Given the description of an element on the screen output the (x, y) to click on. 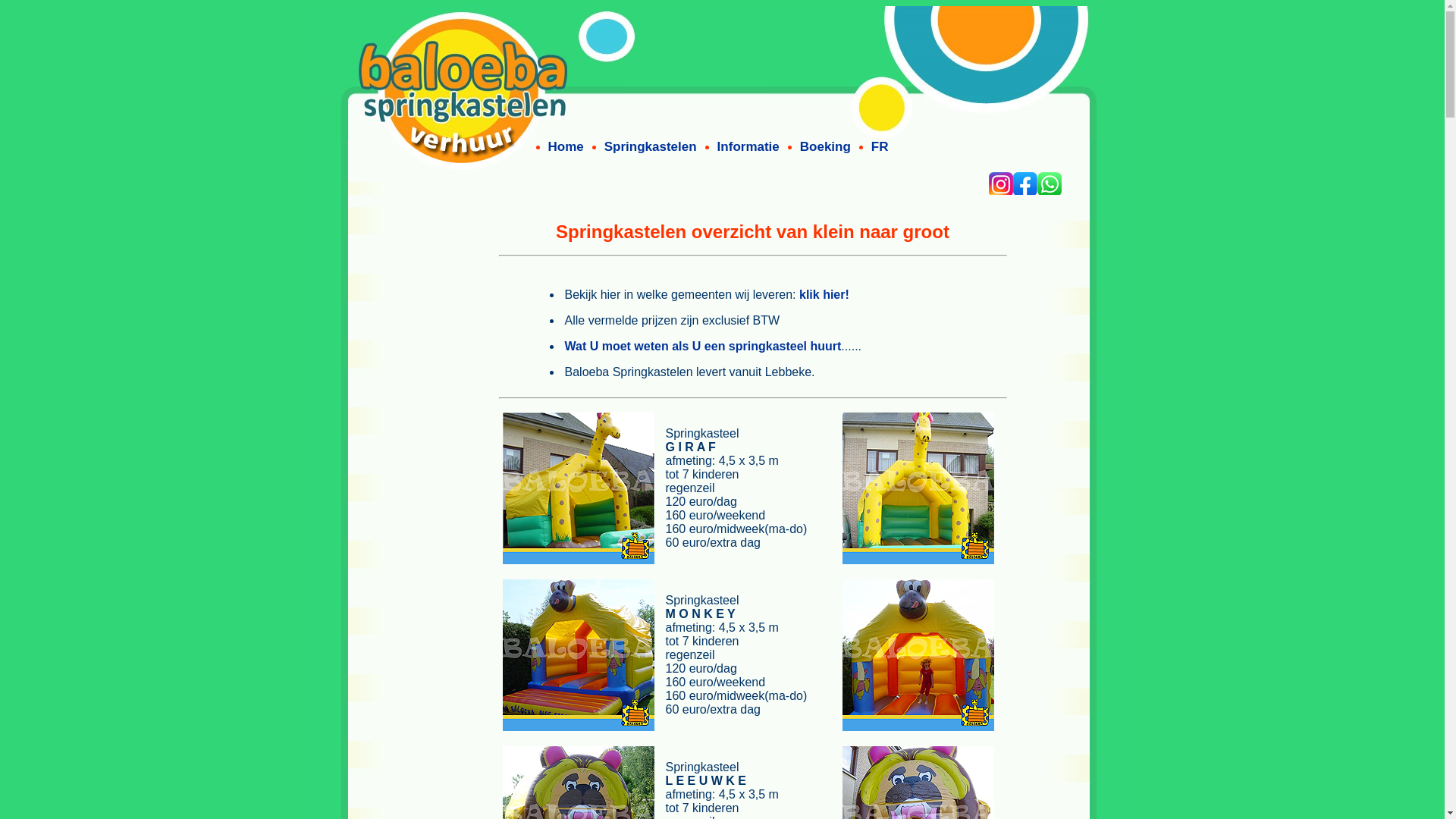
Wat U moet weten als U een springkasteel huurt Element type: text (702, 345)
Springkastelen Element type: text (650, 146)
Informatie Element type: text (748, 146)
klik hier! Element type: text (824, 294)
Home Element type: text (565, 146)
FR Element type: text (879, 146)
Boeking Element type: text (825, 146)
